Given the description of an element on the screen output the (x, y) to click on. 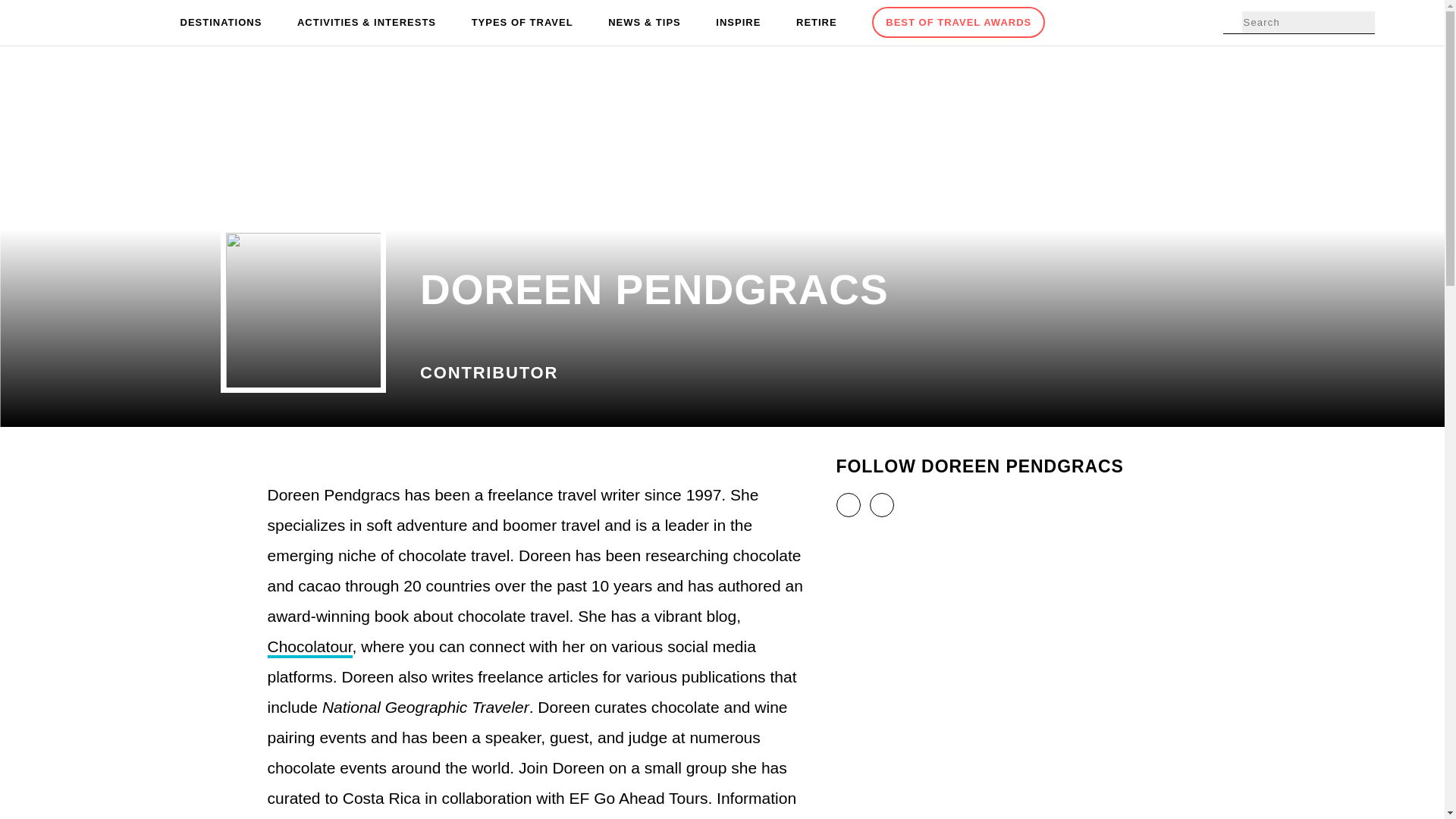
DESTINATIONS (221, 22)
TravelAwaits (107, 22)
TYPES OF TRAVEL (522, 22)
